Given the description of an element on the screen output the (x, y) to click on. 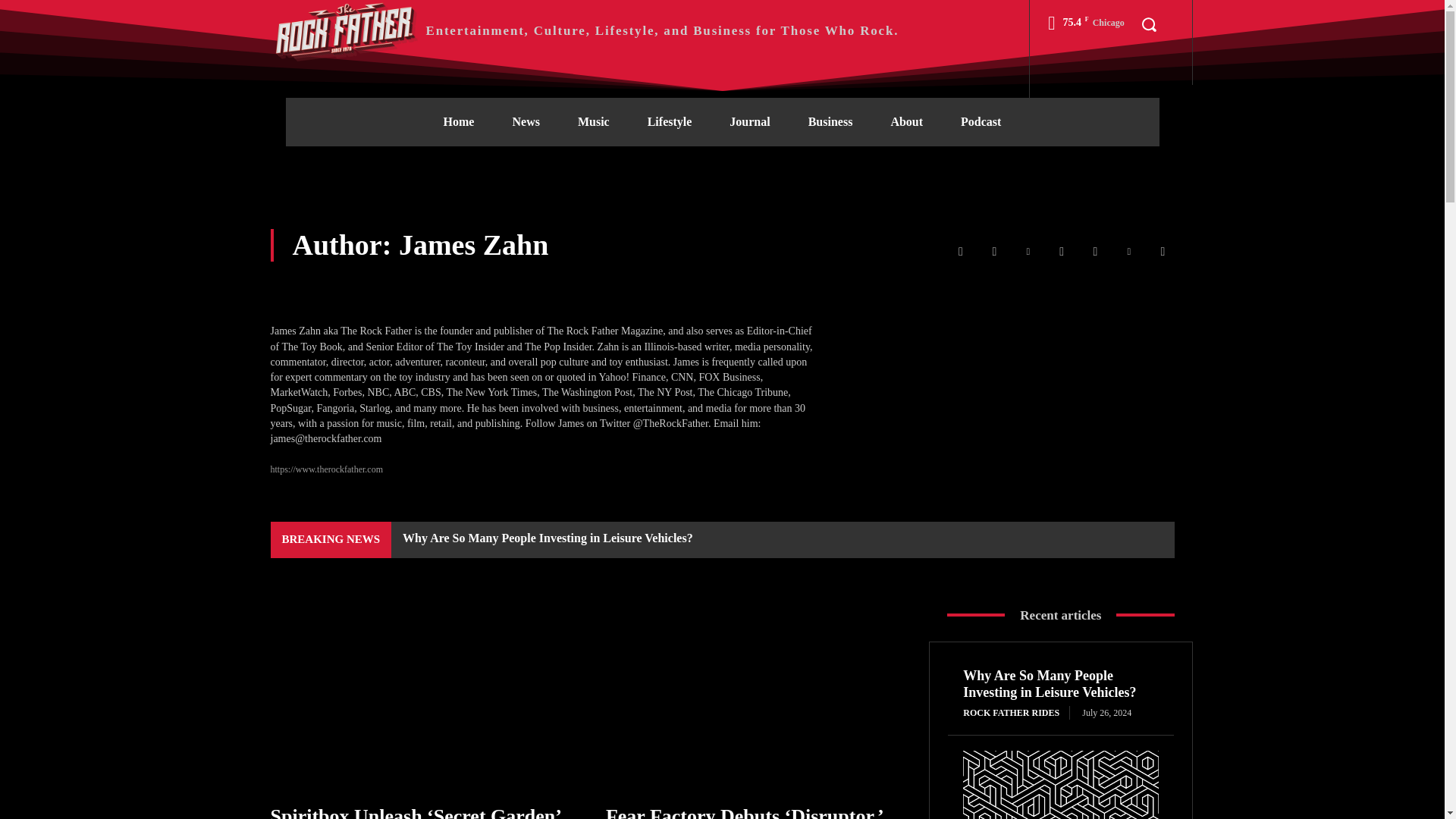
Home (459, 121)
The Rock Father (583, 30)
The Rock Father (345, 30)
Instagram (994, 251)
Facebook (960, 251)
News (525, 121)
